Given the description of an element on the screen output the (x, y) to click on. 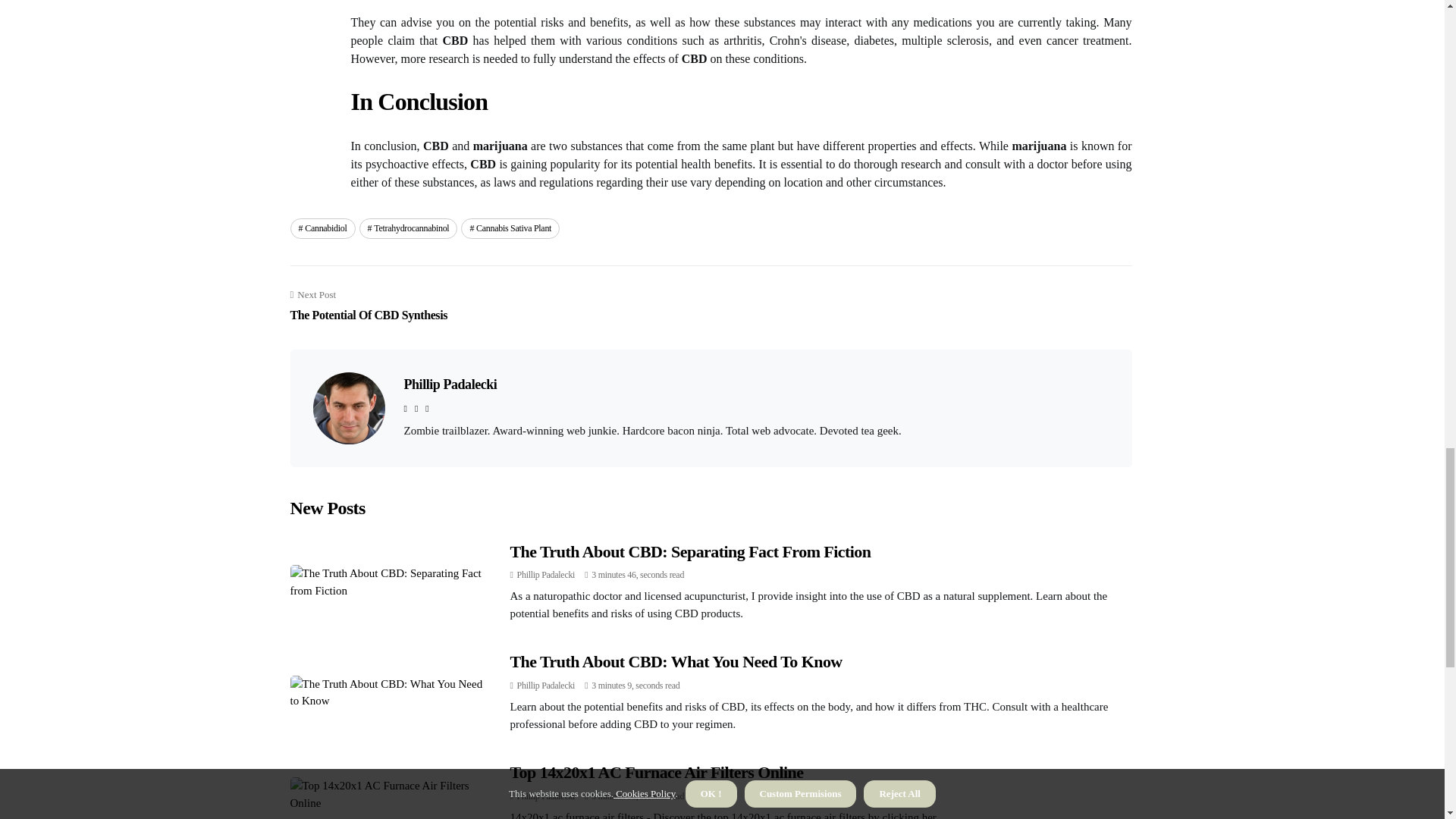
Phillip Padalecki (545, 796)
Top 14x20x1 AC Furnace Air Filters Online (656, 772)
Cannabidiol (322, 228)
Posts by Phillip Padalecki (545, 796)
The Truth About CBD: What You Need To Know (675, 660)
Cannabis Sativa Plant (510, 228)
Phillip Padalecki (545, 685)
Posts by Phillip Padalecki (545, 685)
Posts by Phillip Padalecki (367, 306)
Phillip Padalecki (545, 574)
Phillip Padalecki (545, 574)
Tetrahydrocannabinol (449, 384)
The Truth About CBD: Separating Fact From Fiction (408, 228)
